Given the description of an element on the screen output the (x, y) to click on. 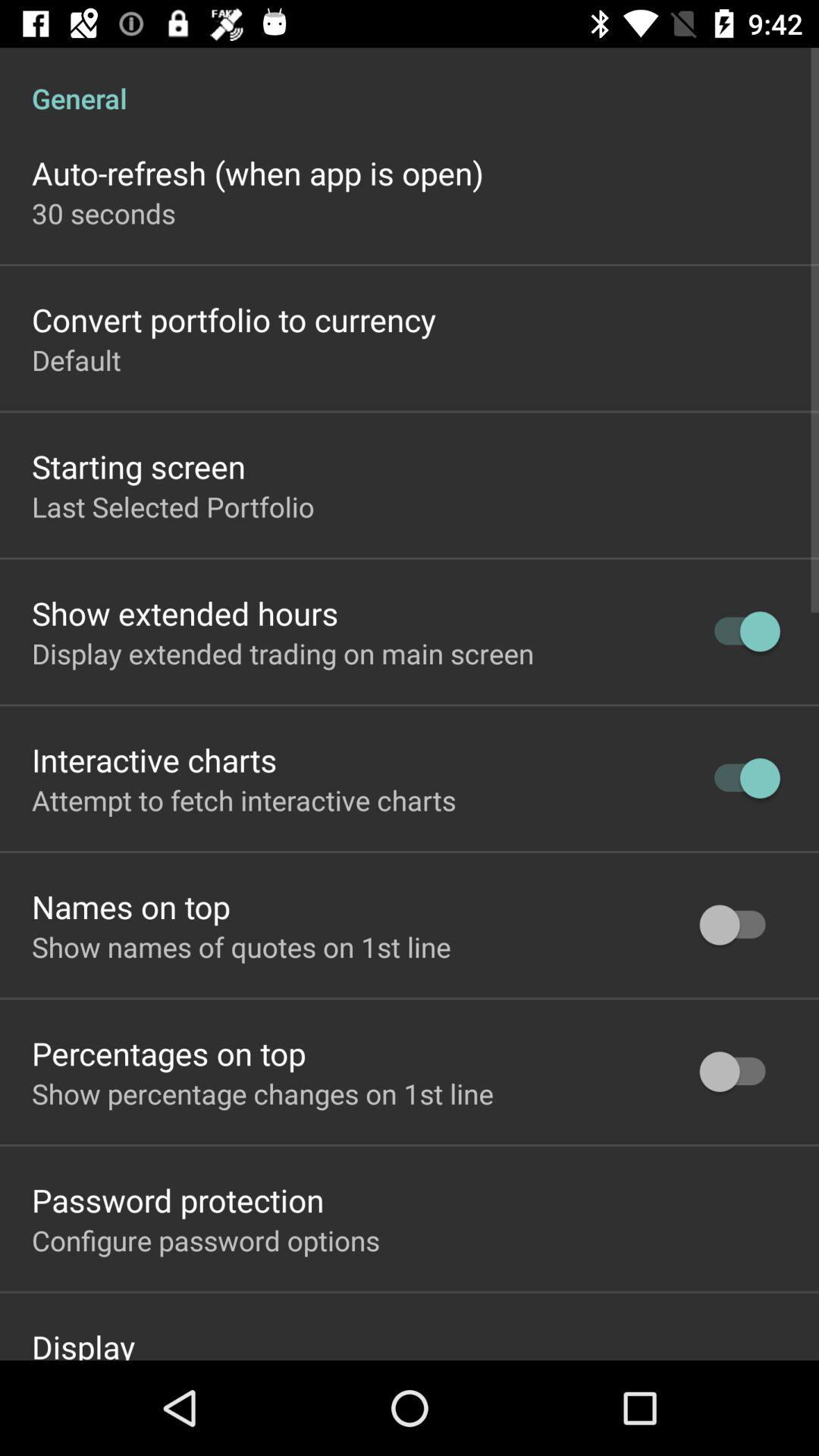
press the password protection app (177, 1199)
